Given the description of an element on the screen output the (x, y) to click on. 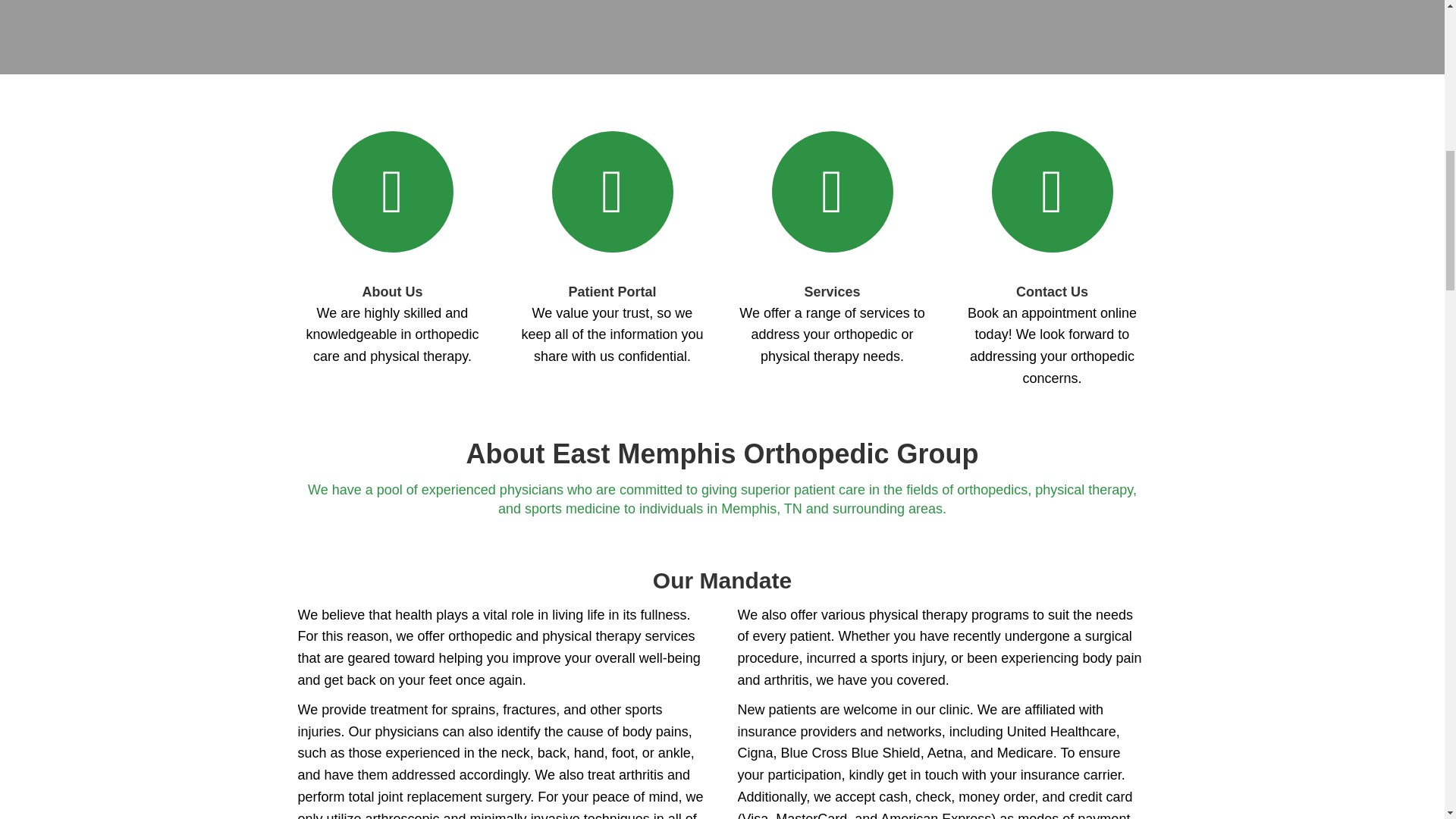
Contact Us (1051, 291)
Services (831, 291)
Patient Portal (611, 291)
About Us (392, 291)
